Given the description of an element on the screen output the (x, y) to click on. 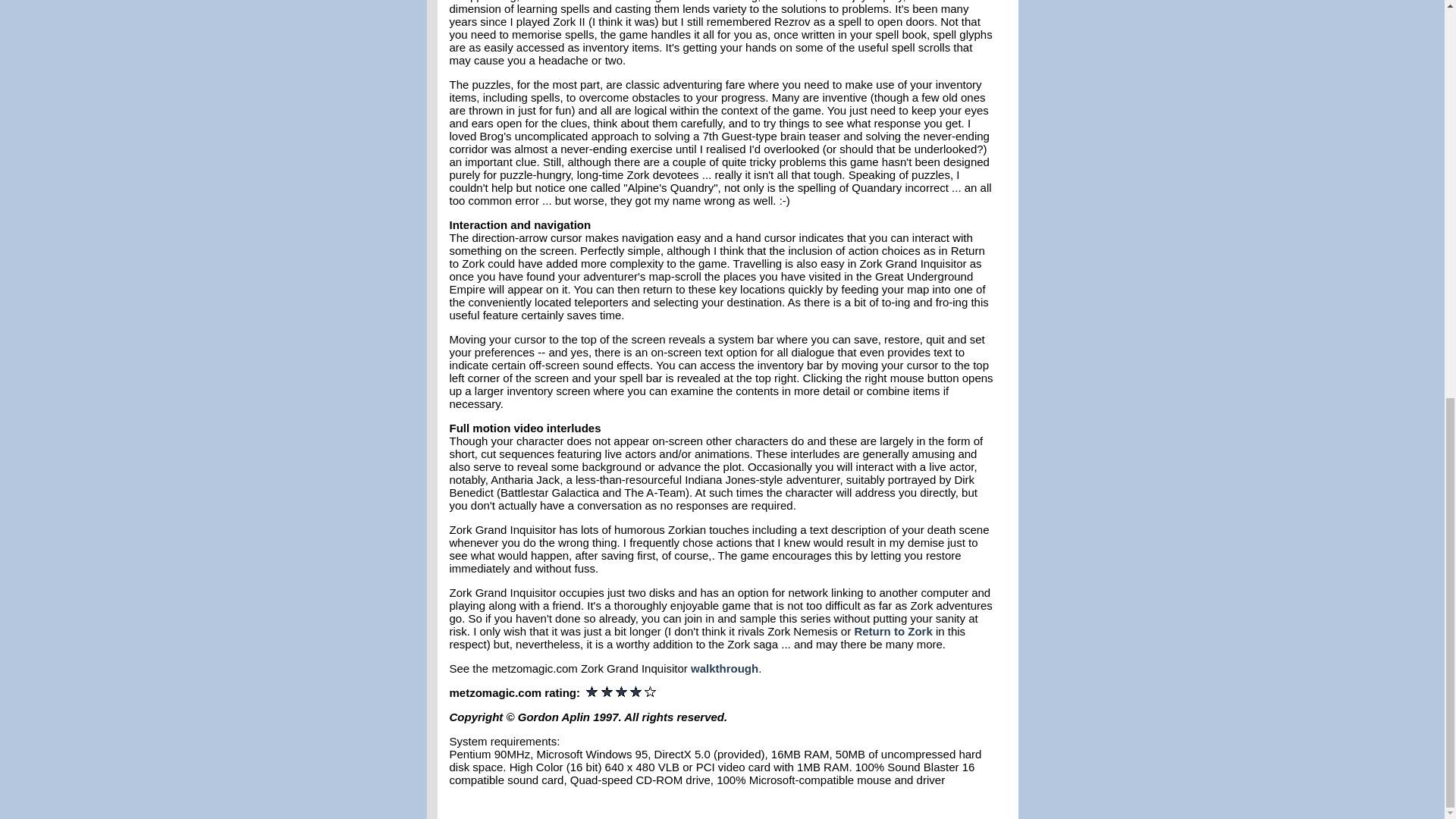
walkthrough (724, 667)
Return to Zork (892, 631)
